Given the description of an element on the screen output the (x, y) to click on. 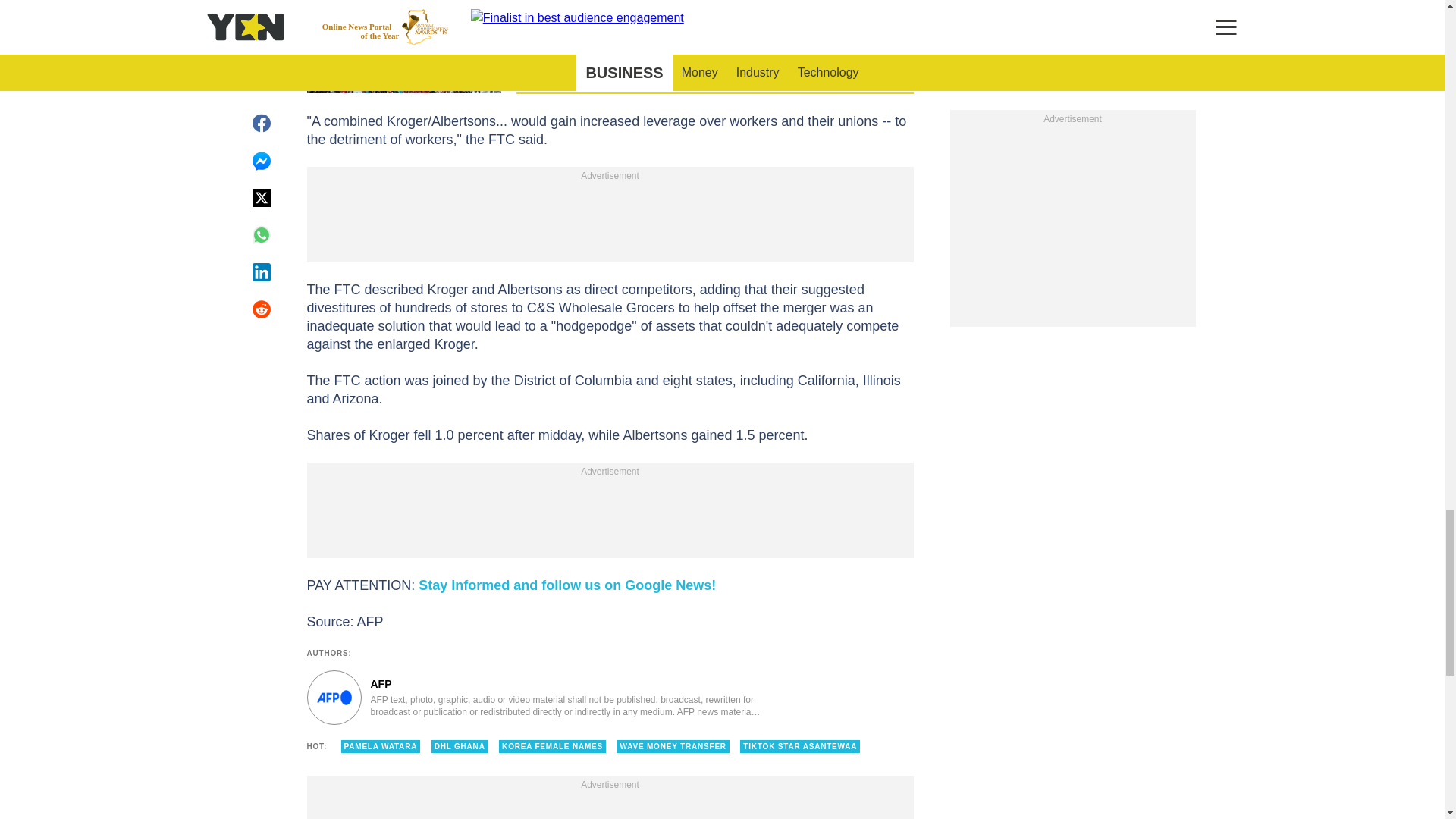
Author page (533, 697)
